Given the description of an element on the screen output the (x, y) to click on. 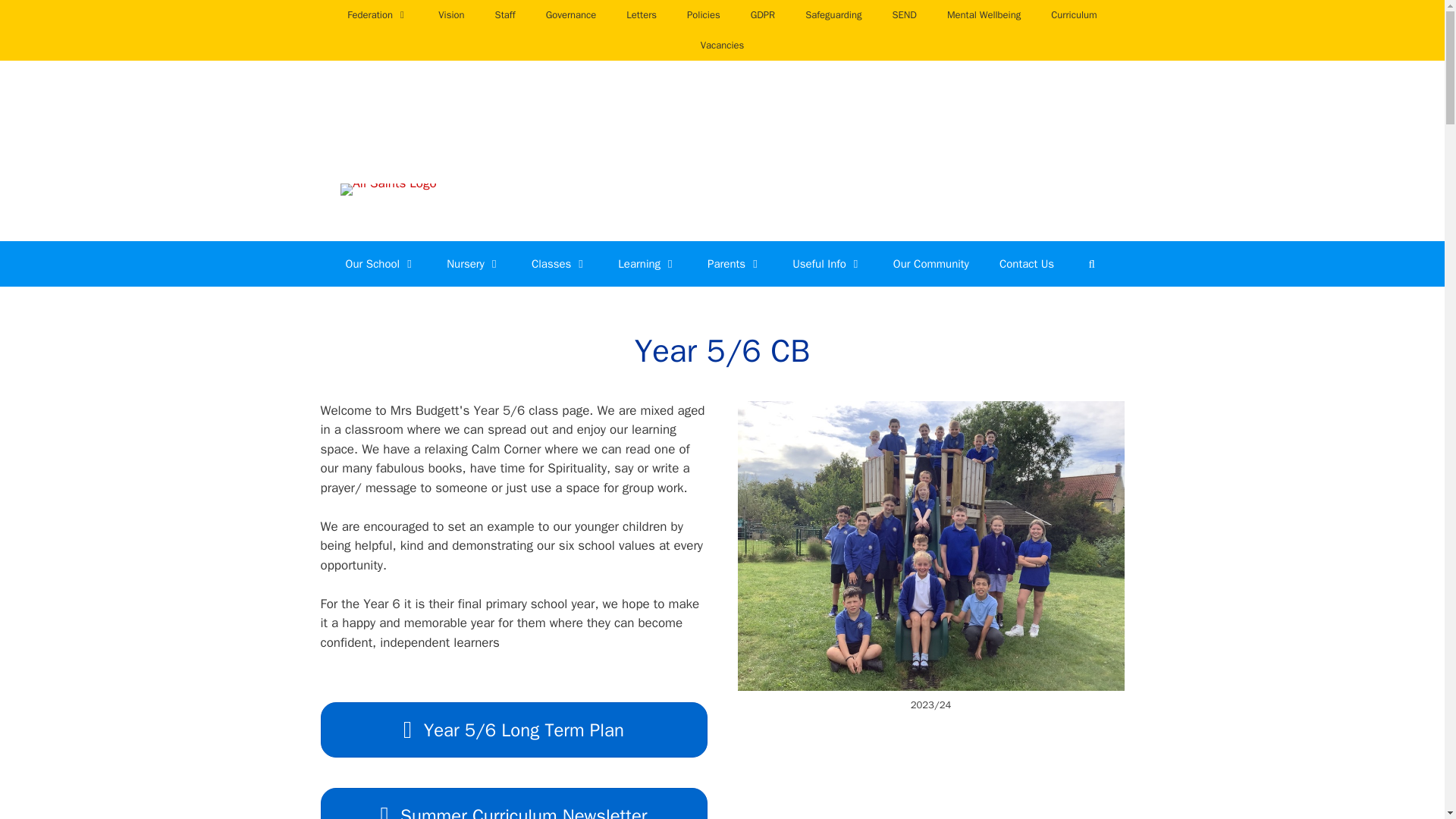
Safeguarding (833, 15)
Governance (571, 15)
Mental Wellbeing (983, 15)
SEND (903, 15)
Curriculum (1073, 15)
Our School (381, 263)
Classes (559, 263)
Policies (703, 15)
Letters (641, 15)
Nursery (473, 263)
Vision (451, 15)
Federation (377, 15)
GDPR (762, 15)
All Saints Logo (387, 189)
Staff (505, 15)
